Given the description of an element on the screen output the (x, y) to click on. 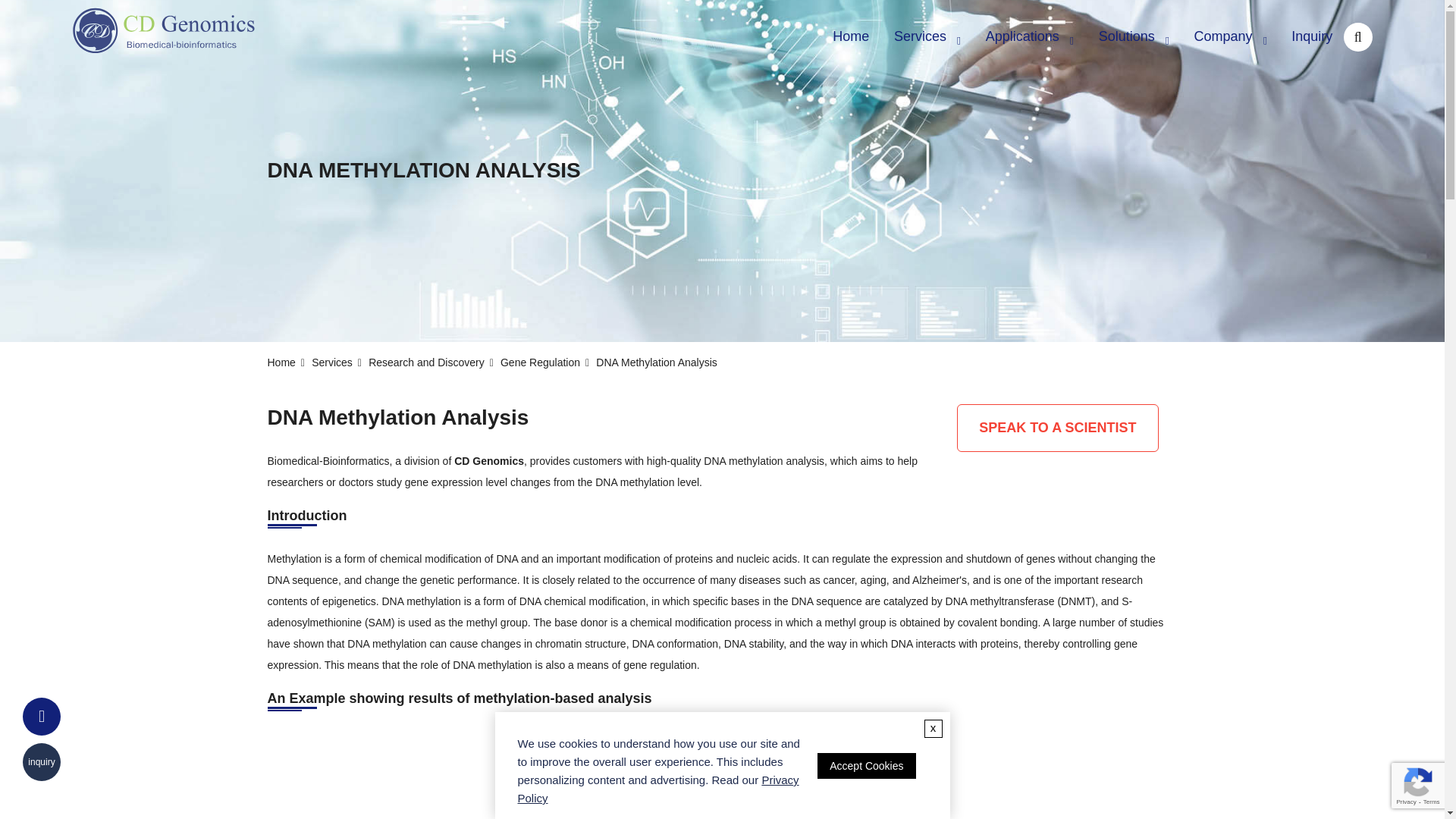
Services (927, 37)
Home (851, 36)
